Given the description of an element on the screen output the (x, y) to click on. 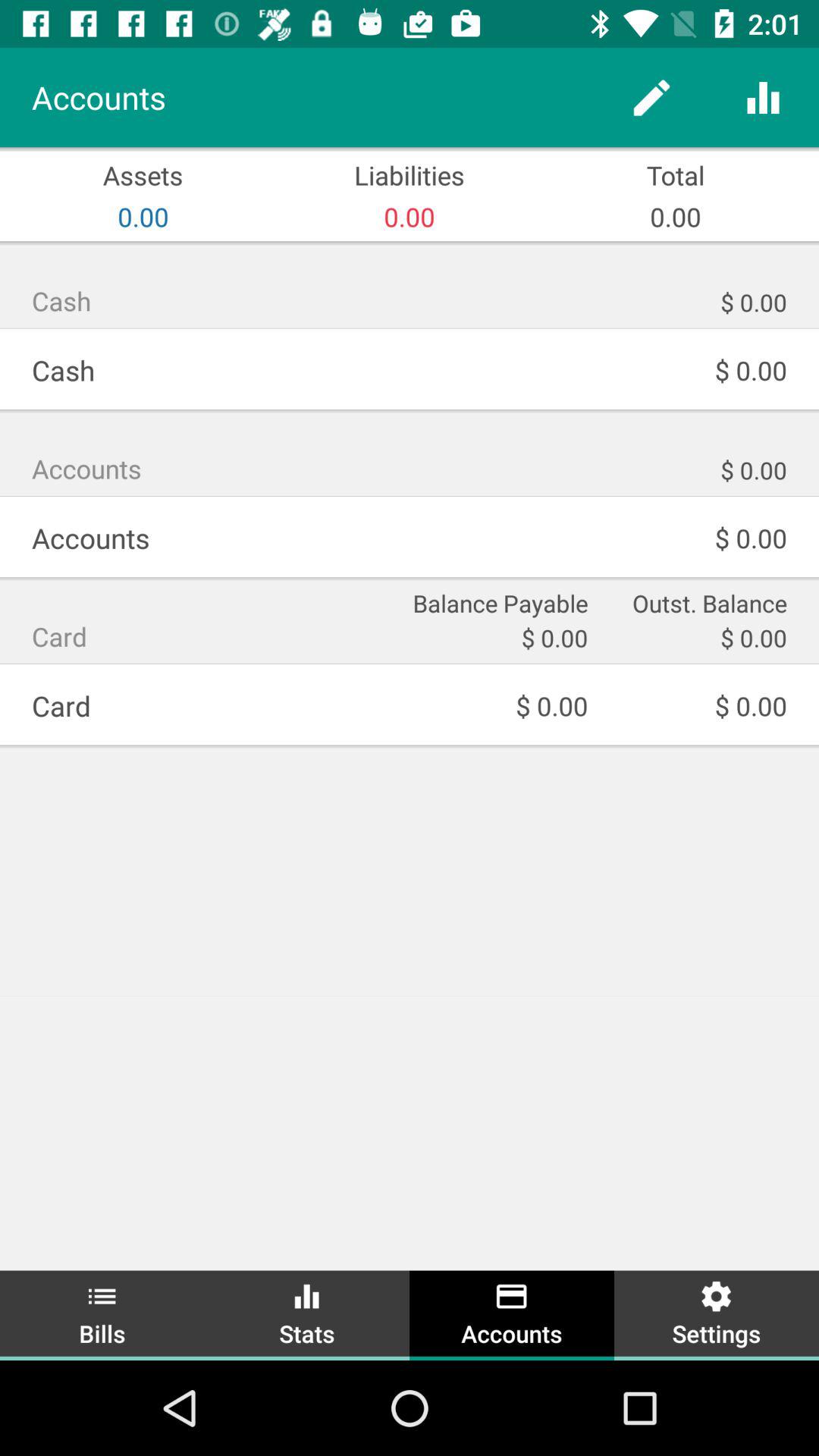
open the item to the right of card (498, 601)
